Given the description of an element on the screen output the (x, y) to click on. 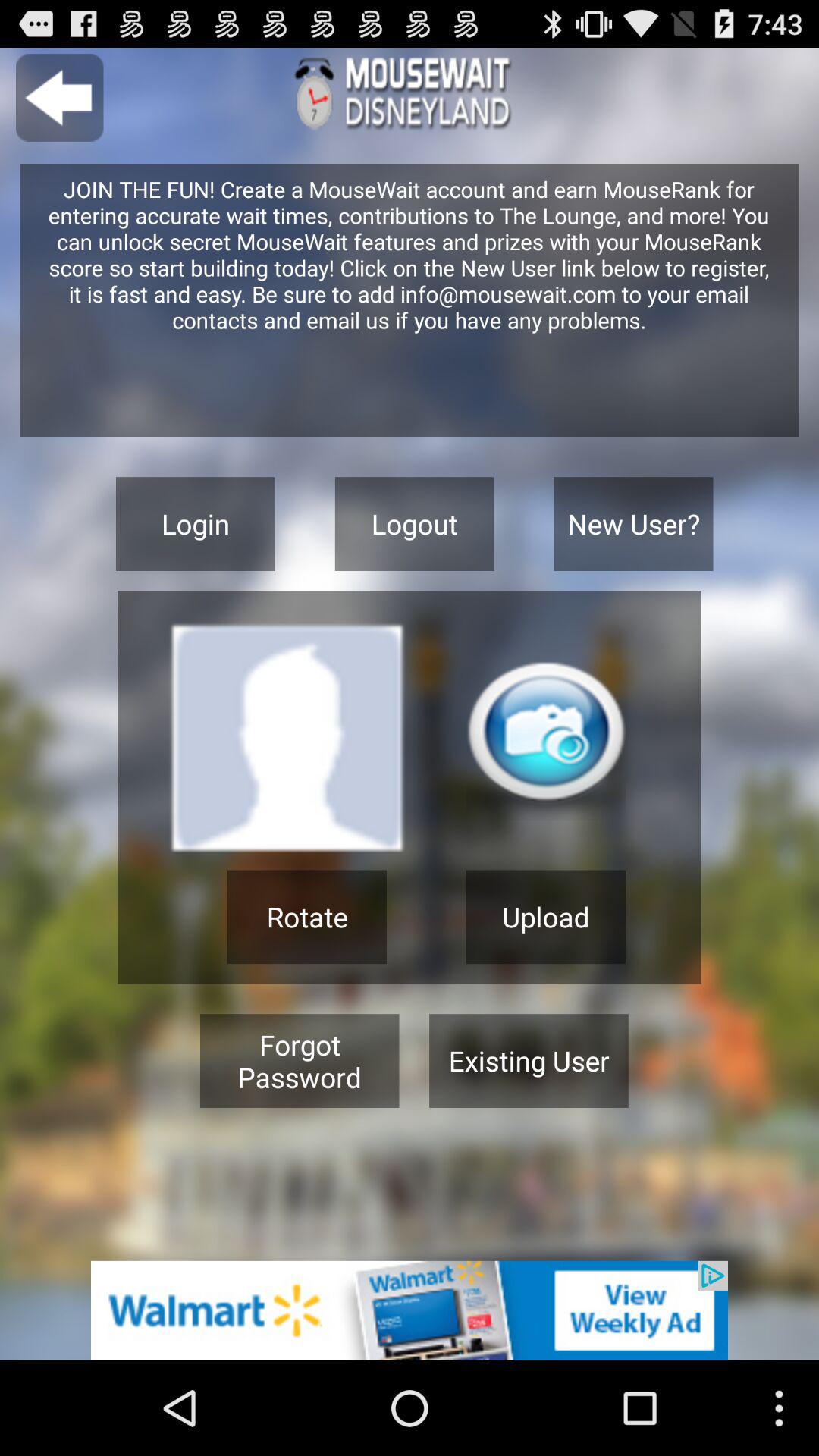
go back (59, 97)
